Given the description of an element on the screen output the (x, y) to click on. 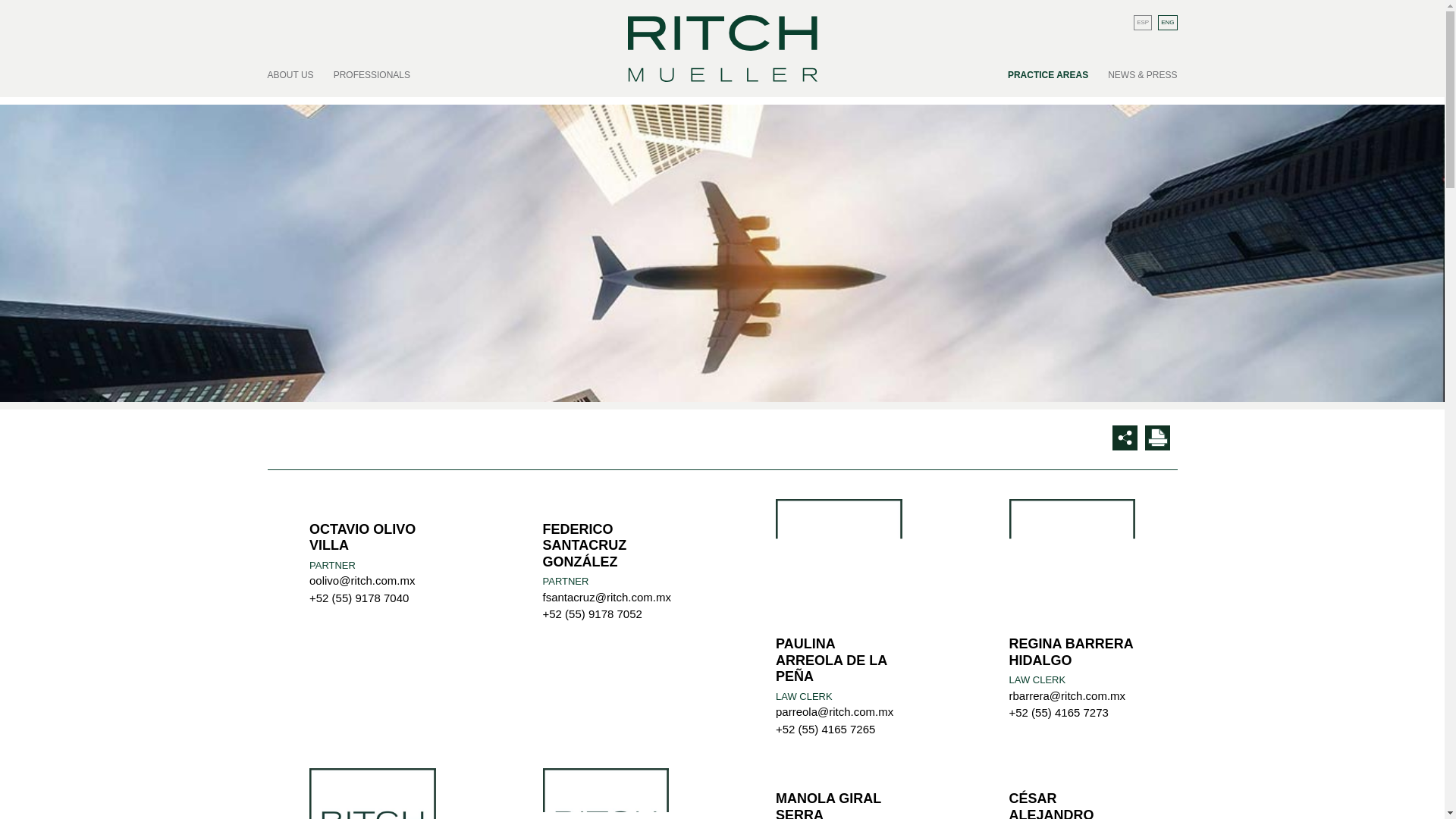
ABOUT US (294, 69)
ESP (1142, 22)
ENG (1166, 22)
PRACTICE AREAS (1047, 69)
OCTAVIO OLIVO VILLA (371, 537)
PROFESSIONALS (371, 69)
